Given the description of an element on the screen output the (x, y) to click on. 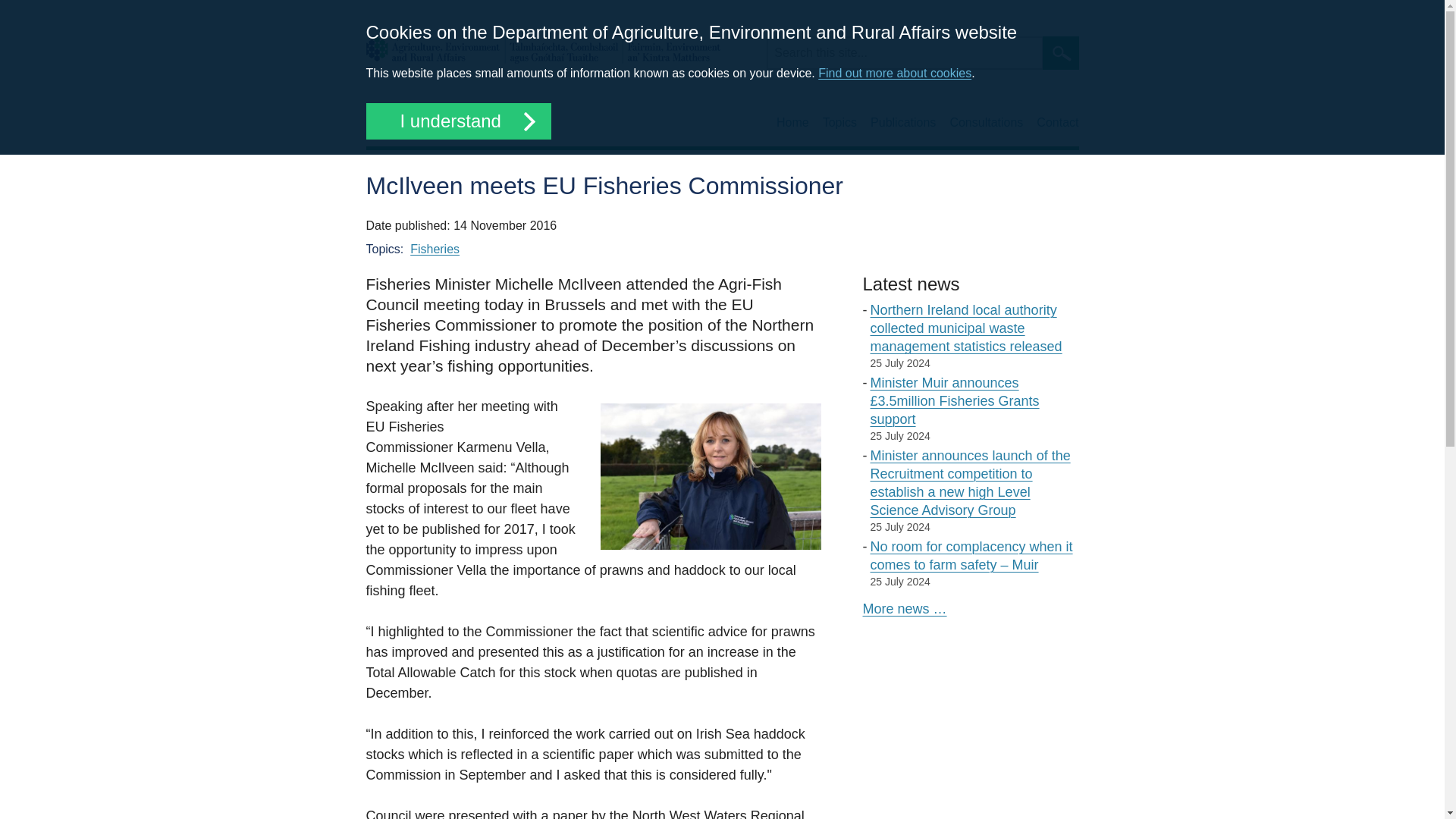
I understand (457, 121)
Home (542, 49)
Fisheries (435, 248)
Topics (839, 122)
Search (1060, 52)
Home (792, 122)
Enter the terms you wish to search for (904, 52)
Publications (903, 122)
Contact (1057, 122)
Search (1060, 52)
Consultations (986, 122)
Find out more about cookies (894, 72)
